Given the description of an element on the screen output the (x, y) to click on. 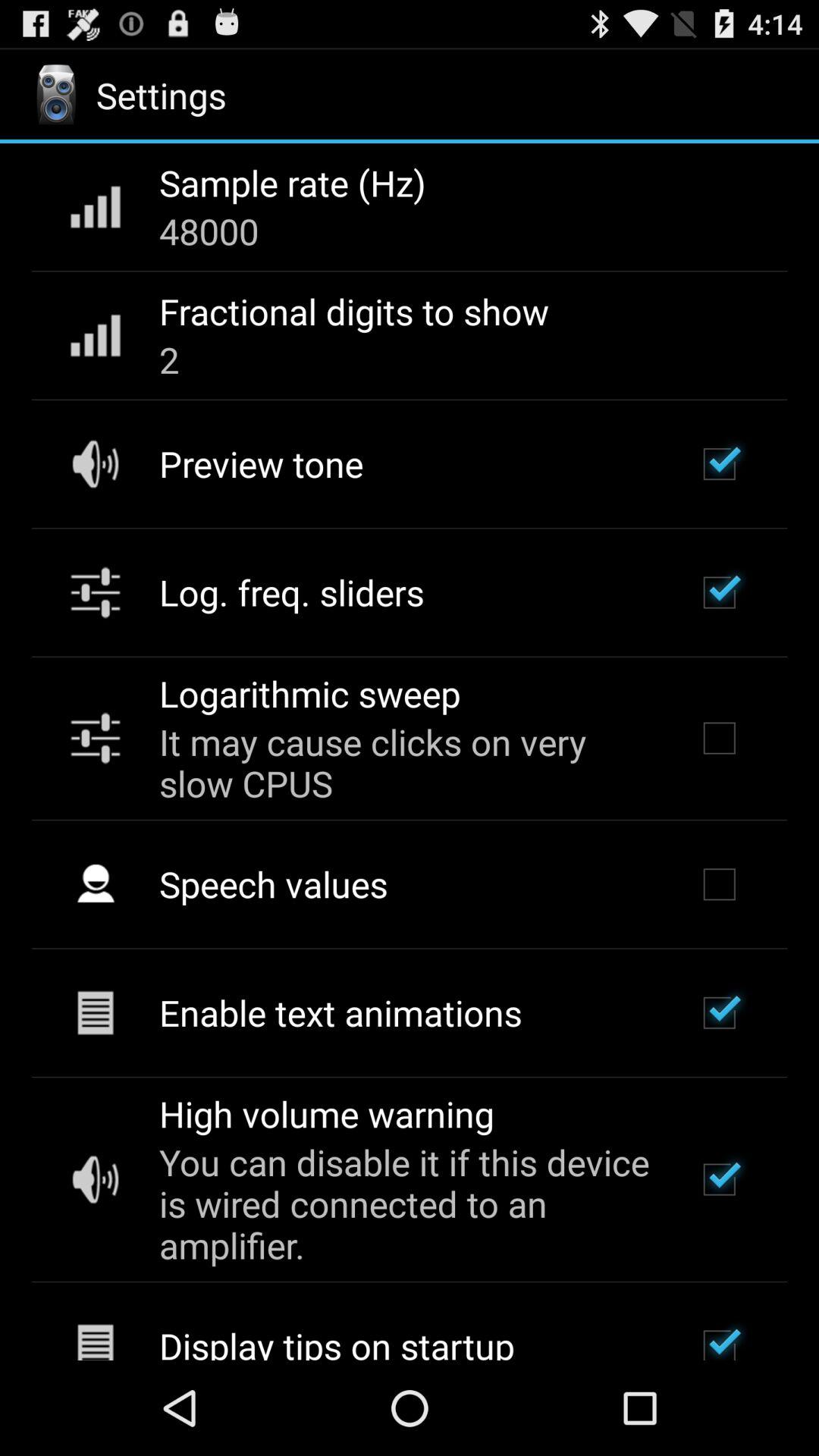
tap the app above the high volume warning app (340, 1012)
